Given the description of an element on the screen output the (x, y) to click on. 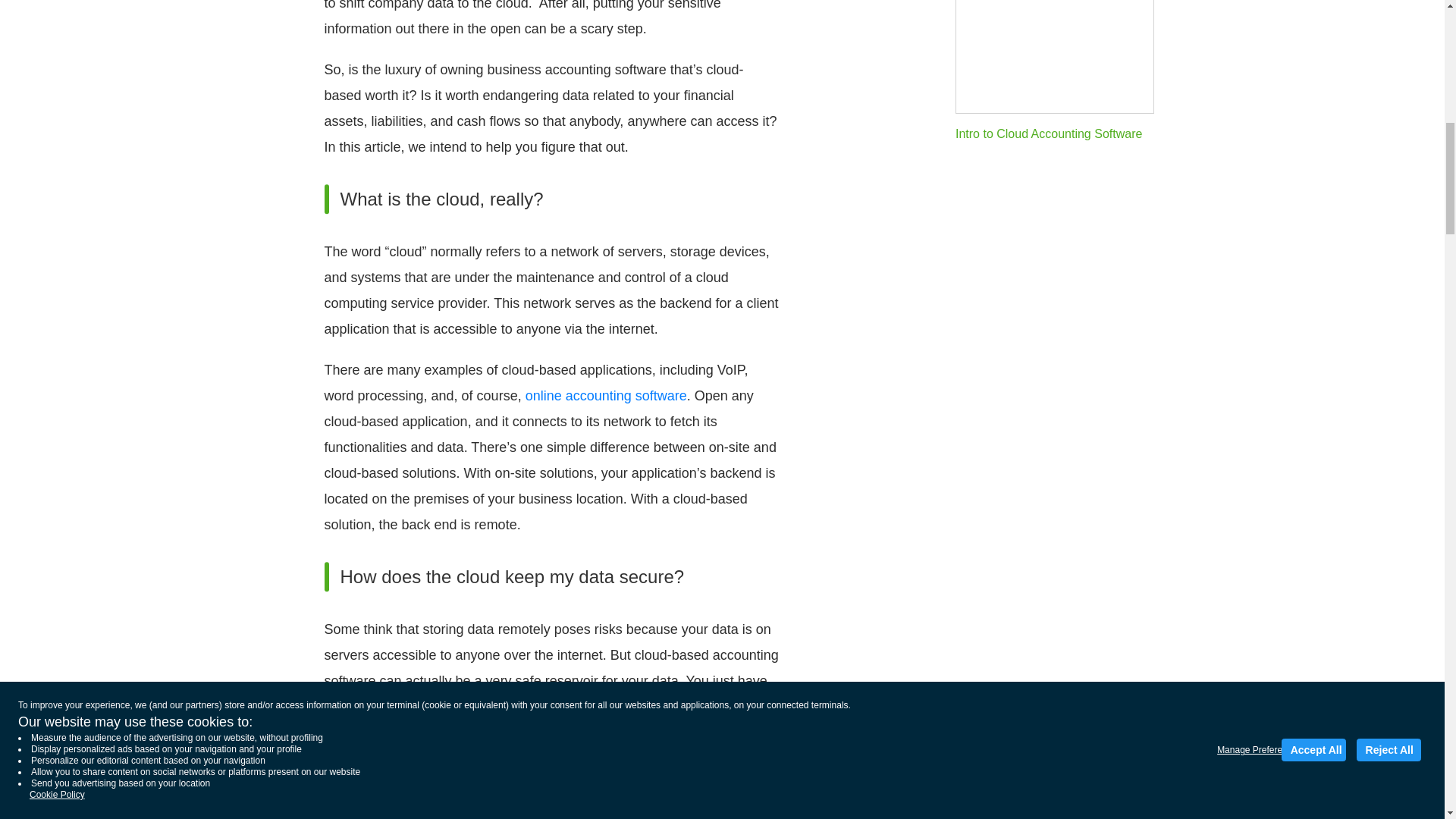
online accounting software (606, 395)
